Given the description of an element on the screen output the (x, y) to click on. 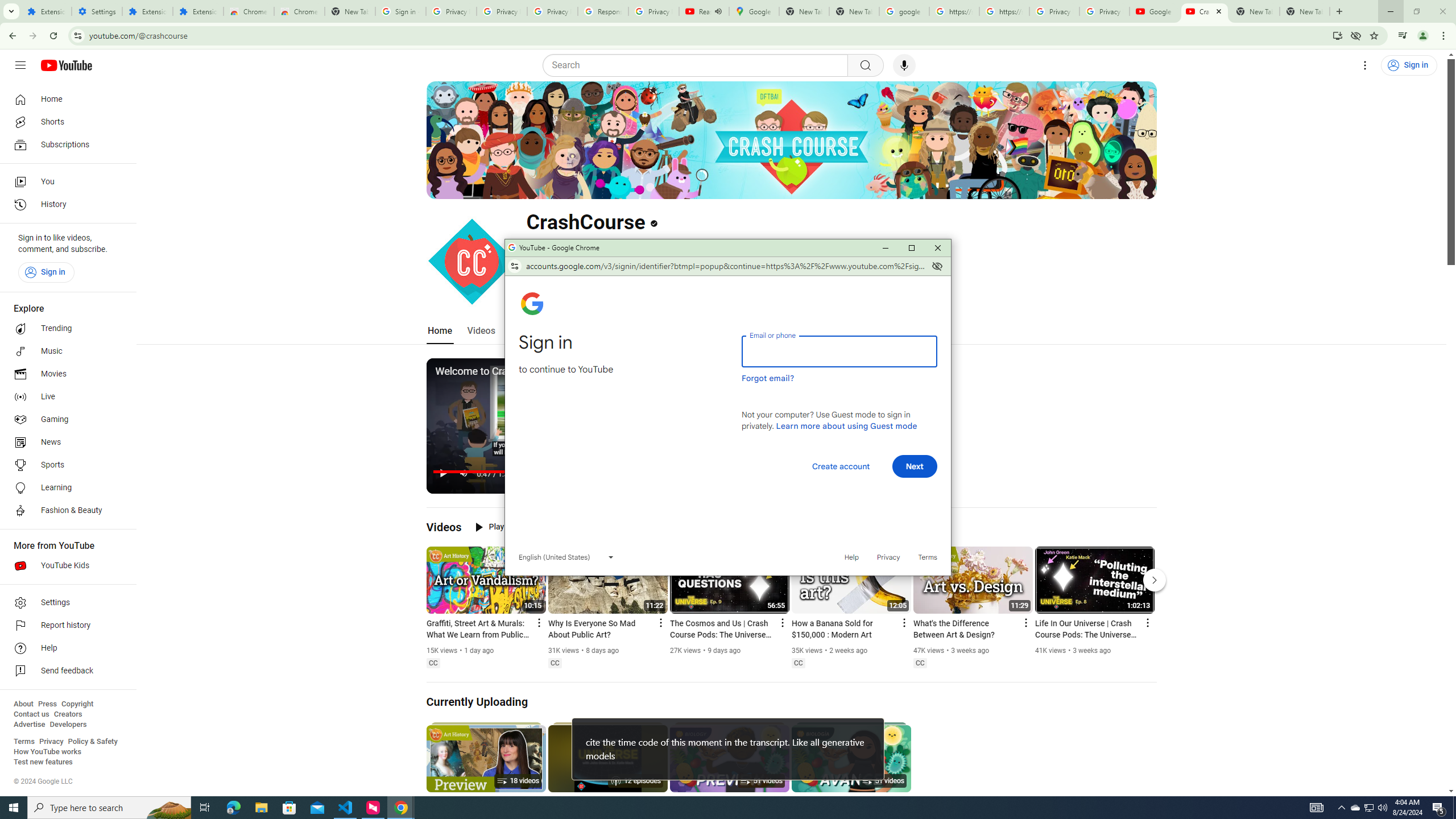
Google - YouTube (1154, 11)
Notification Chevron (1341, 807)
Currently Uploading (477, 701)
Trending (64, 328)
New Tab (1304, 11)
